Given the description of an element on the screen output the (x, y) to click on. 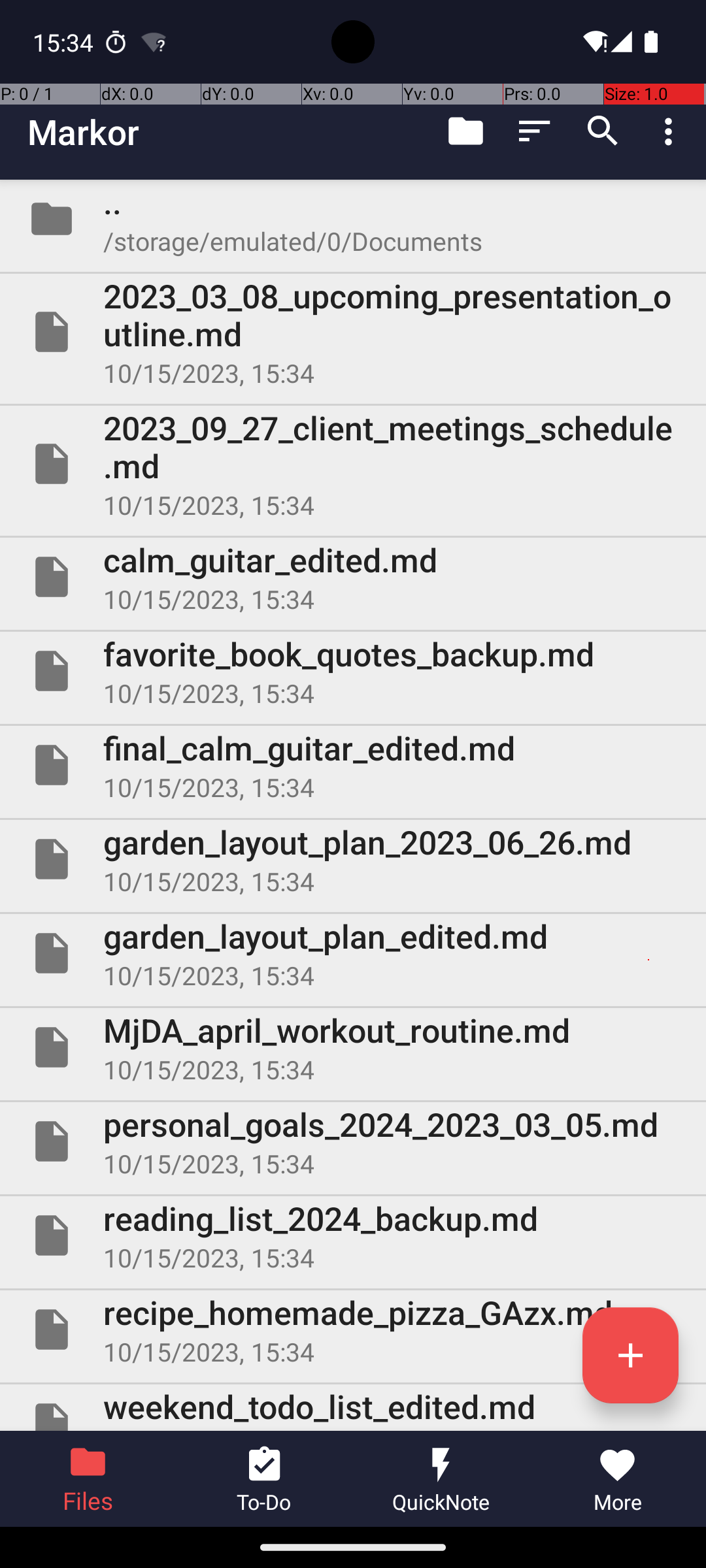
Create a new file or folder Element type: android.widget.ImageButton (630, 1355)
Markor Element type: android.widget.TextView (83, 131)
Go to Element type: android.widget.TextView (465, 131)
Sort by Element type: android.widget.TextView (534, 131)
To-Do Element type: android.widget.FrameLayout (264, 1478)
QuickNote Element type: android.widget.FrameLayout (441, 1478)
More Element type: android.widget.FrameLayout (617, 1478)
Folder ..  Element type: android.widget.LinearLayout (353, 218)
File 2023_03_08_upcoming_presentation_outline.md  Element type: android.widget.LinearLayout (353, 331)
File 2023_09_27_client_meetings_schedule.md  Element type: android.widget.LinearLayout (353, 463)
File calm_guitar_edited.md  Element type: android.widget.LinearLayout (353, 576)
File favorite_book_quotes_backup.md  Element type: android.widget.LinearLayout (353, 670)
File final_calm_guitar_edited.md  Element type: android.widget.LinearLayout (353, 764)
File garden_layout_plan_2023_06_26.md  Element type: android.widget.LinearLayout (353, 858)
File garden_layout_plan_edited.md  Element type: android.widget.LinearLayout (353, 953)
File MjDA_april_workout_routine.md  Element type: android.widget.LinearLayout (353, 1047)
File personal_goals_2024_2023_03_05.md  Element type: android.widget.LinearLayout (353, 1141)
File reading_list_2024_backup.md  Element type: android.widget.LinearLayout (353, 1235)
File recipe_homemade_pizza_GAzx.md  Element type: android.widget.LinearLayout (353, 1329)
File weekend_todo_list_edited.md  Element type: android.widget.LinearLayout (353, 1407)
Android System notification: AndroidWifi has limited connectivity Element type: android.widget.ImageView (153, 41)
Wifi signal full.,No internet Element type: android.widget.FrameLayout (593, 41)
